Given the description of an element on the screen output the (x, y) to click on. 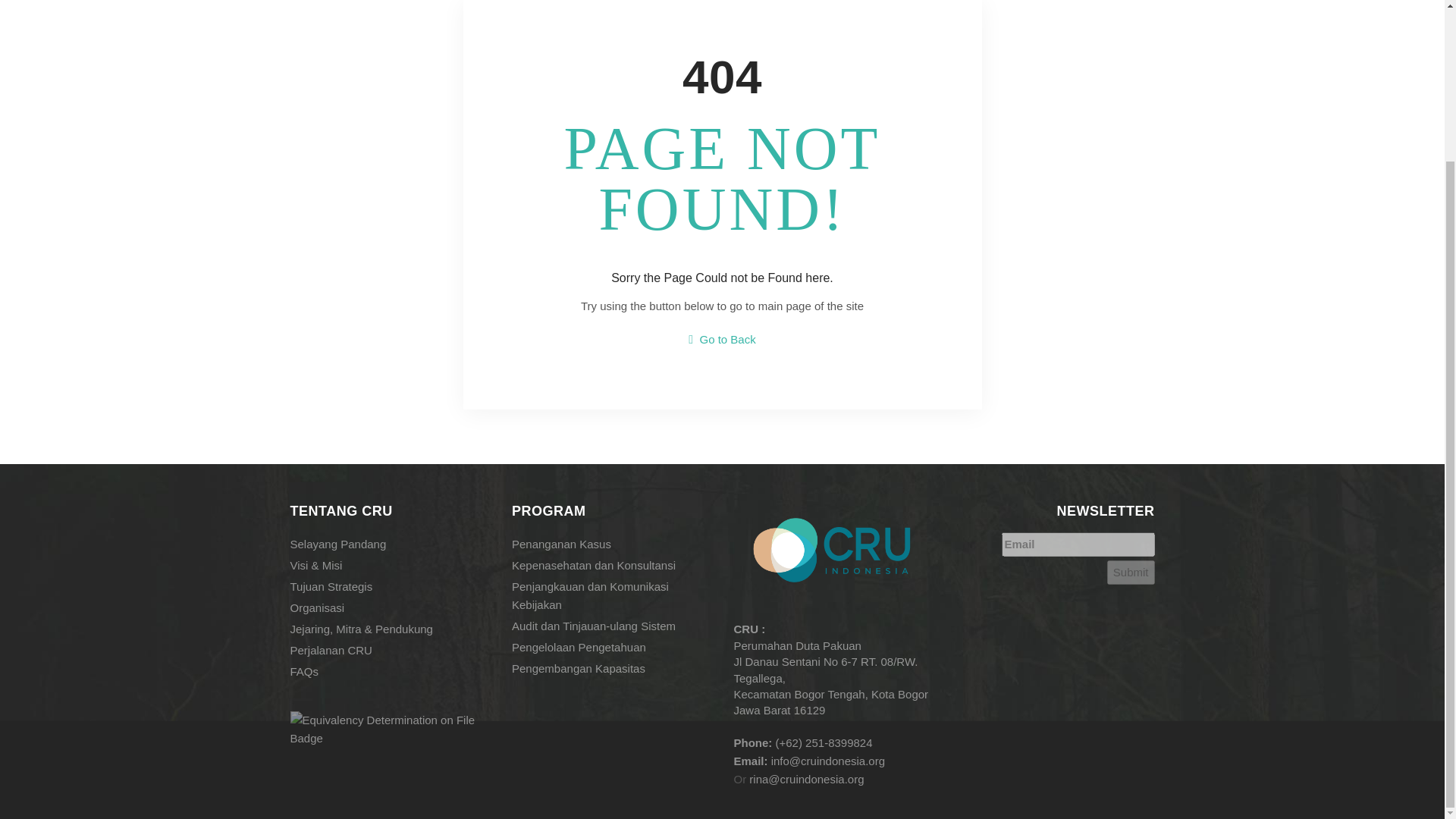
Selayang Pandang (389, 542)
Submit (1130, 572)
Perjalanan CRU (389, 649)
Tujuan Strategis (389, 585)
FAQs (389, 670)
  Go to Back (721, 338)
Organisasi (389, 606)
